Given the description of an element on the screen output the (x, y) to click on. 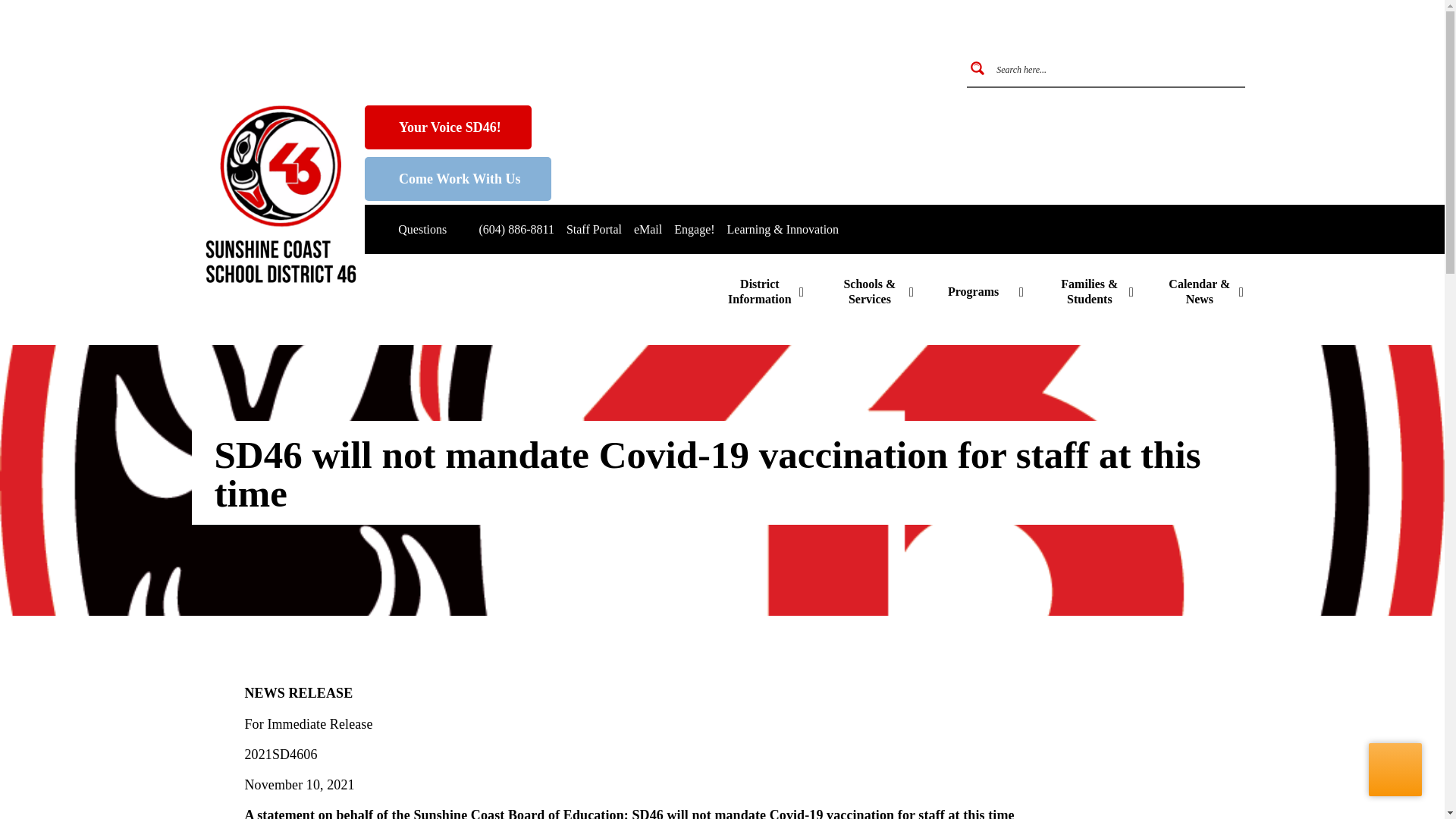
Questions (412, 229)
District Information (765, 291)
Engage! (694, 229)
Staff Portal (593, 229)
Your Voice SD46! (448, 127)
Come Work With Us (458, 178)
eMail (647, 229)
